Given the description of an element on the screen output the (x, y) to click on. 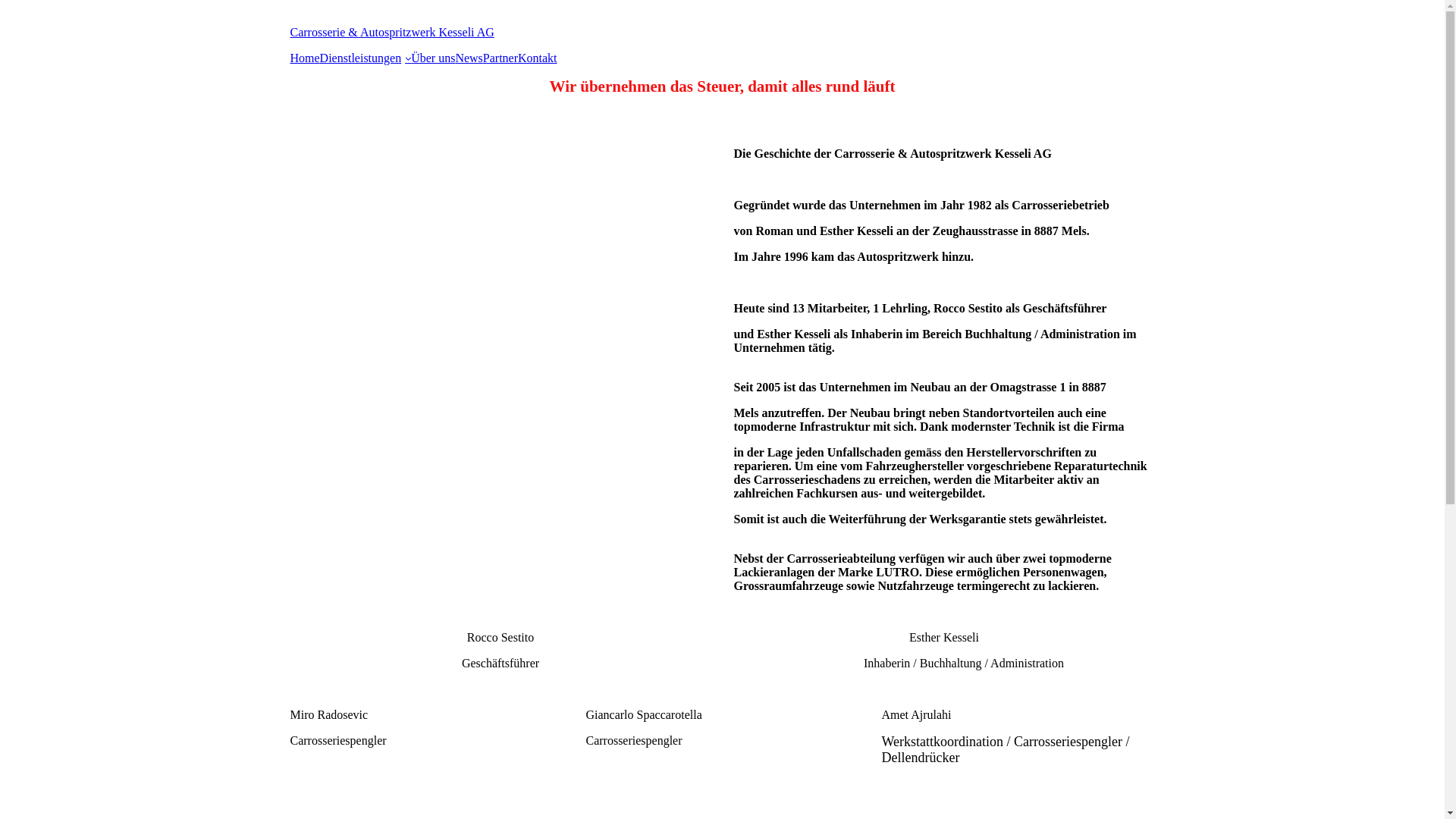
Carrosserie & Autospritzwerk Kesseli AG Element type: text (391, 31)
Home Element type: text (304, 58)
Dienstleistungen Element type: text (365, 58)
Kontakt Element type: text (537, 58)
Partner Element type: text (500, 58)
News Element type: text (468, 58)
